Given the description of an element on the screen output the (x, y) to click on. 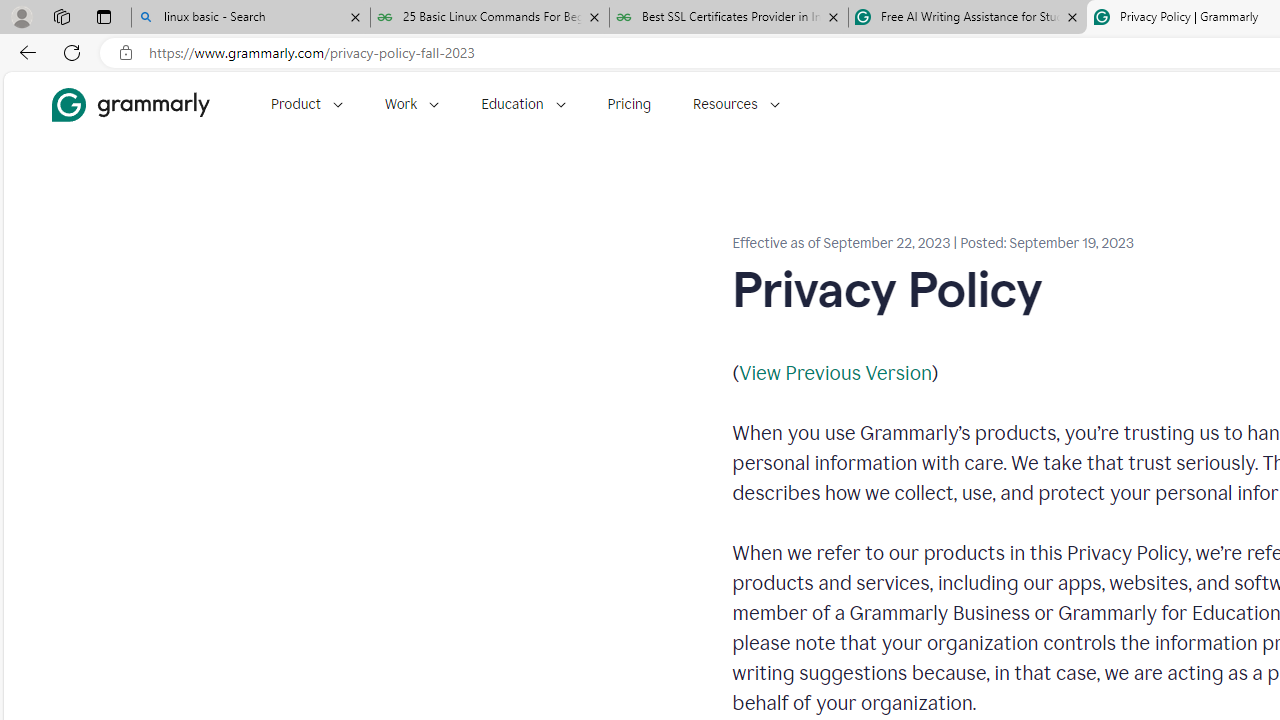
Pricing (629, 104)
Product (306, 104)
Grammarly Home (130, 104)
View Previous Version (834, 372)
25 Basic Linux Commands For Beginners - GeeksforGeeks (490, 17)
Product (306, 103)
Work (412, 103)
Best SSL Certificates Provider in India - GeeksforGeeks (729, 17)
Education (523, 104)
Education (523, 103)
linux basic - Search (250, 17)
Free AI Writing Assistance for Students | Grammarly (967, 17)
